Given the description of an element on the screen output the (x, y) to click on. 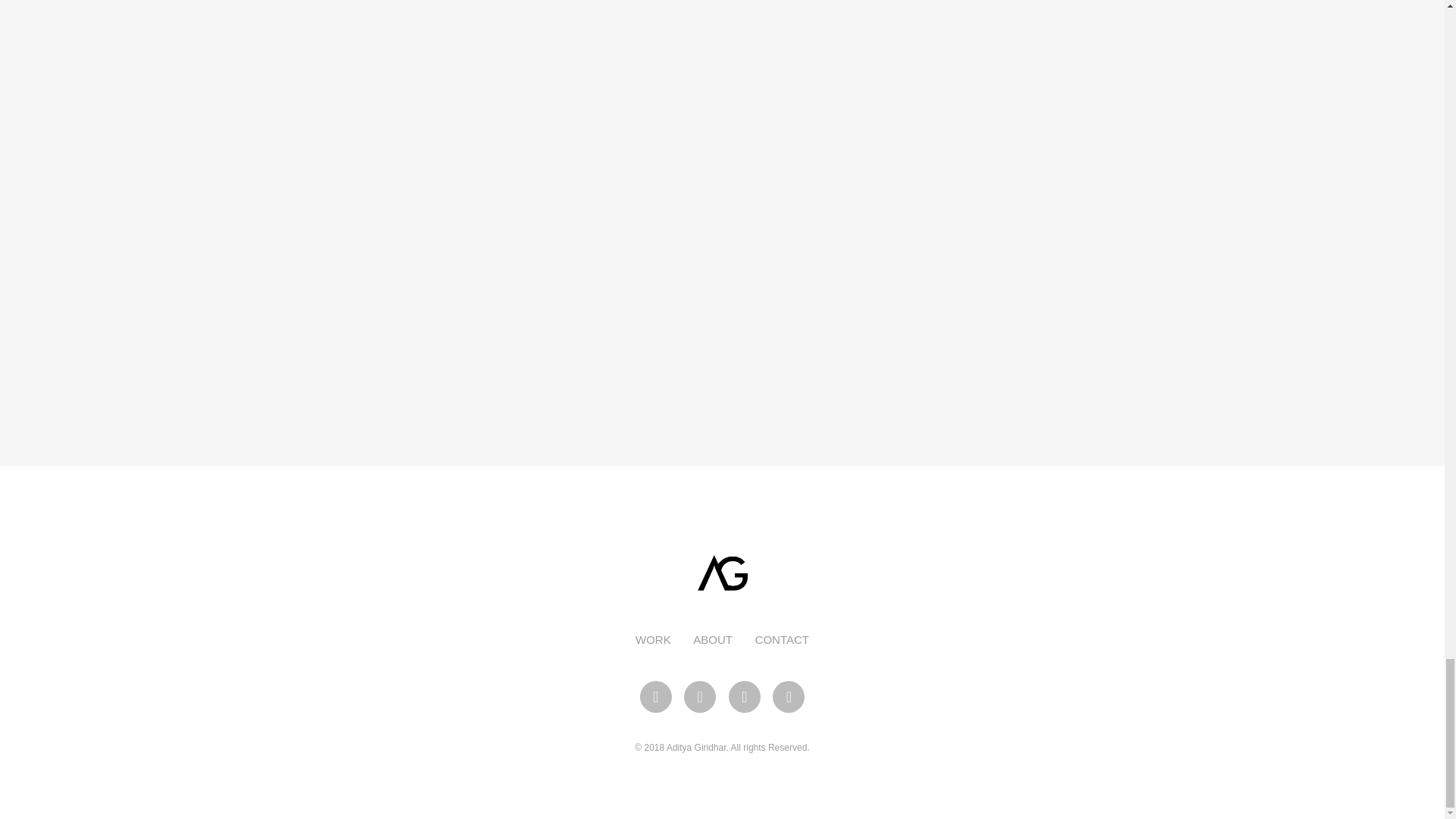
ABOUT (712, 639)
CONTACT (782, 639)
Work (652, 639)
Contact (782, 639)
Aditya Giridhar (722, 572)
WORK (652, 639)
About (712, 639)
